Given the description of an element on the screen output the (x, y) to click on. 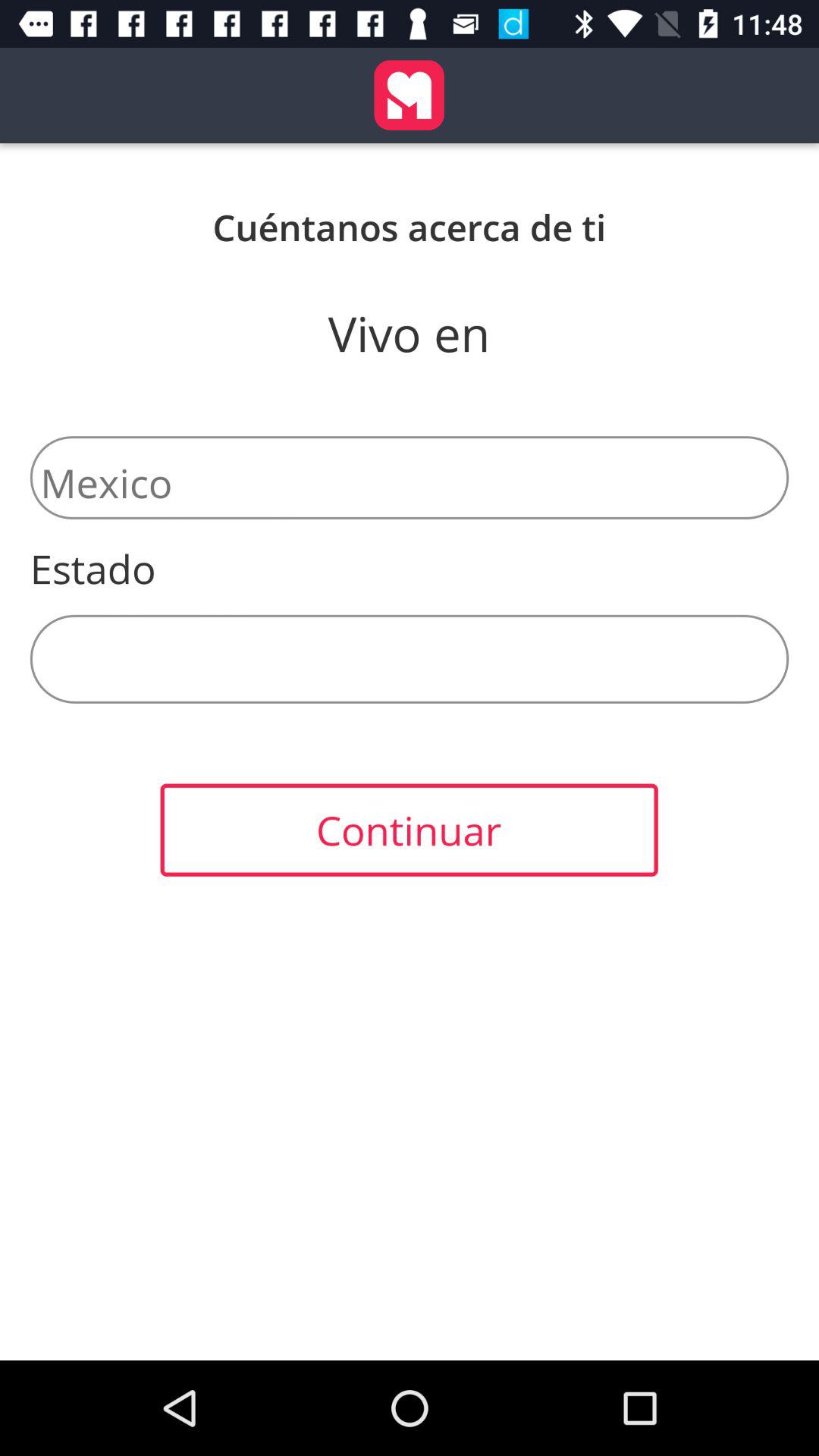
swipe to the continuar icon (409, 829)
